Given the description of an element on the screen output the (x, y) to click on. 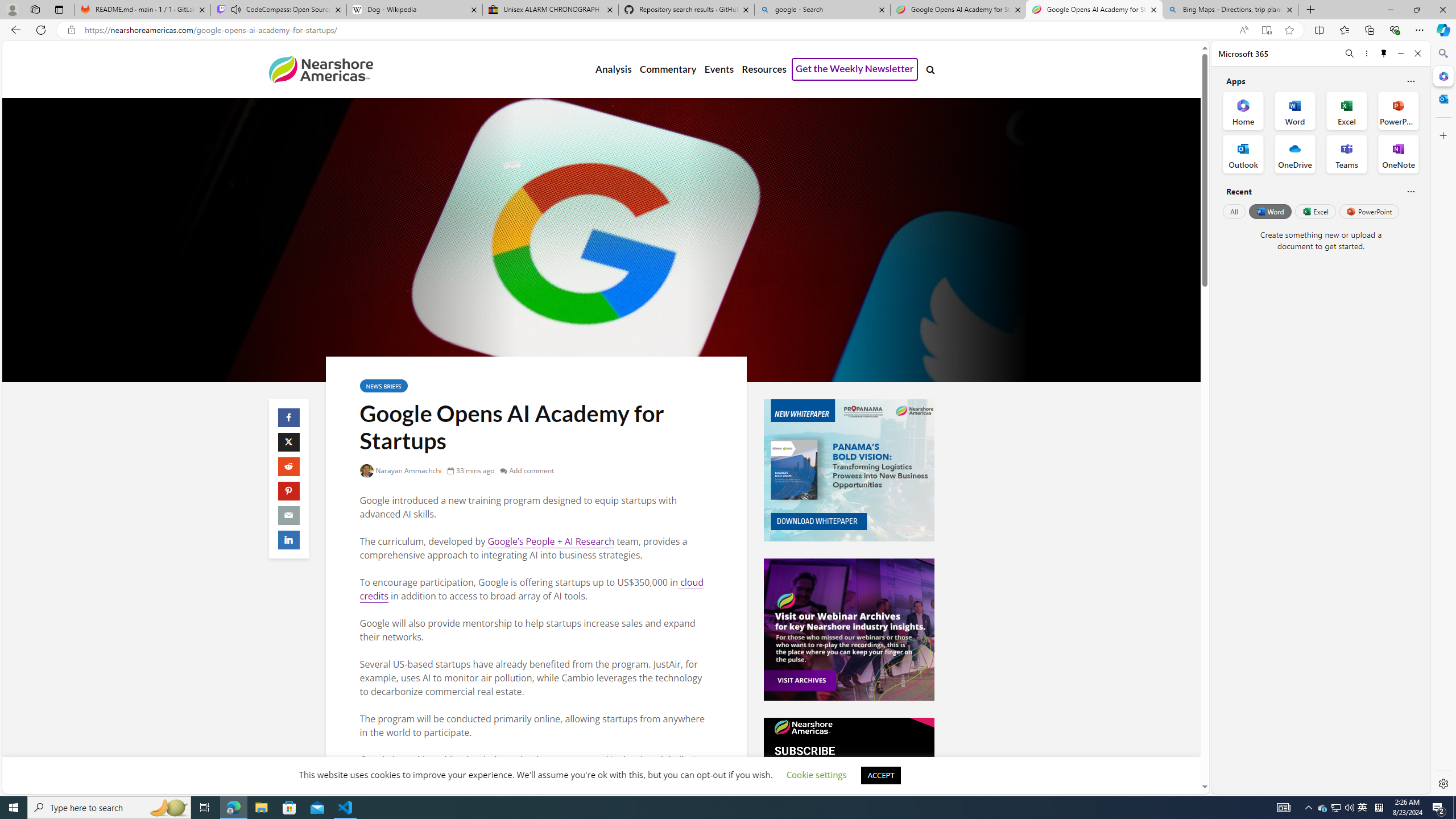
Close (1417, 53)
Narayan Ammachchi (400, 470)
Settings (1442, 783)
 cloud credits (531, 588)
App bar (728, 29)
Address and search bar (658, 29)
Nearshore Americas (319, 68)
Excel Office App (1346, 110)
New Tab (1311, 9)
Split screen (1318, 29)
Commentary (667, 69)
Dog - Wikipedia (414, 9)
Add this page to favorites (Ctrl+D) (1289, 29)
propanama-whitepaper_1_sidead.png (848, 470)
